Given the description of an element on the screen output the (x, y) to click on. 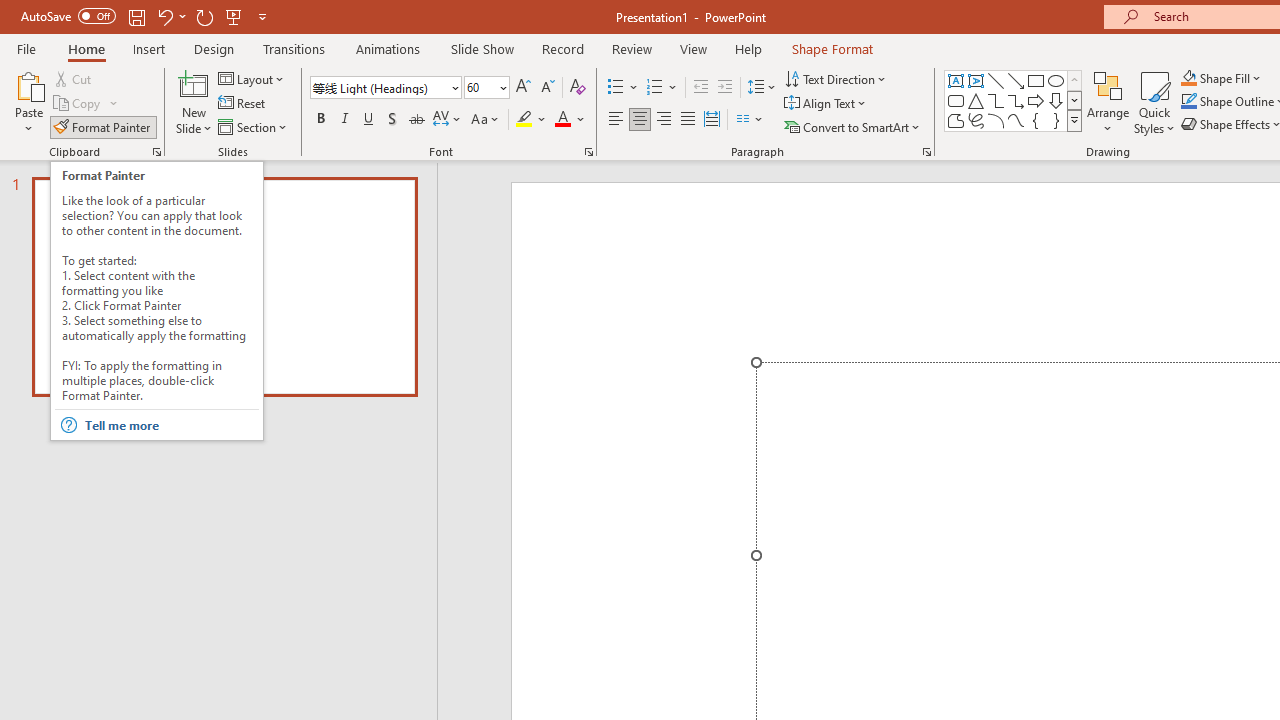
Help (748, 48)
AutoSave (68, 16)
Shape Fill Orange, Accent 2 (1188, 78)
Office Clipboard... (156, 151)
Home (86, 48)
Increase Font Size (522, 87)
Undo (164, 15)
Quick Access Toolbar (145, 16)
Layout (252, 78)
Section (254, 126)
Connector: Elbow Arrow (1016, 100)
New Slide (193, 102)
Text Box (955, 80)
Text Highlight Color (531, 119)
Shape Outline Blue, Accent 1 (1188, 101)
